Given the description of an element on the screen output the (x, y) to click on. 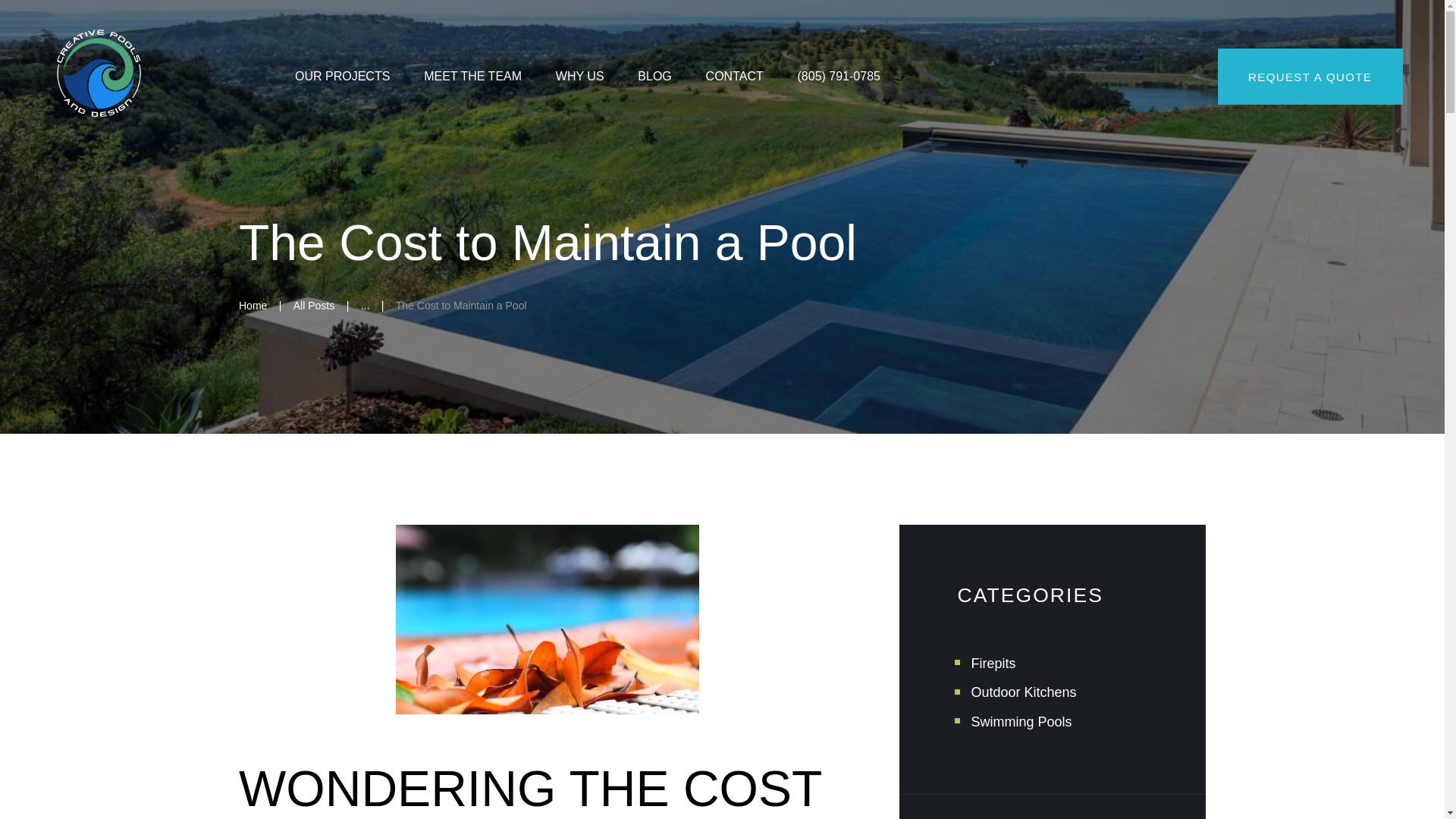
OUR PROJECTS (342, 78)
Firepits (992, 663)
MEET THE TEAM (472, 78)
All Posts (314, 305)
WHY US (580, 78)
Home (252, 305)
BLOG (654, 78)
Outdoor Kitchens (1023, 692)
REQUEST A QUOTE (1310, 76)
CONTACT (734, 78)
Swimming Pools (1021, 721)
